Given the description of an element on the screen output the (x, y) to click on. 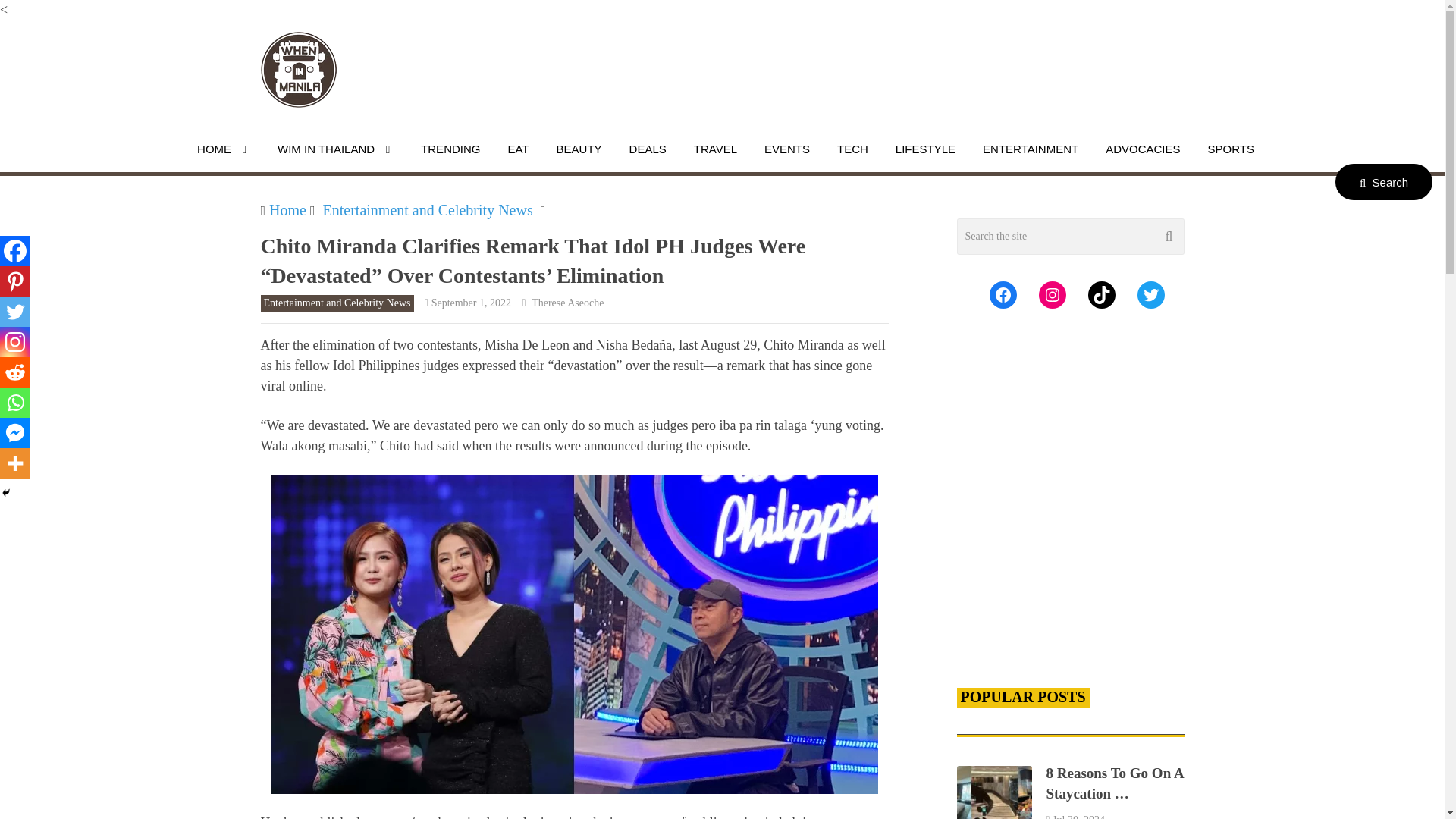
HOME (224, 148)
Twitter (15, 311)
Pinterest (15, 281)
EVENTS (786, 148)
TECH (852, 148)
EAT (518, 148)
Reddit (15, 372)
Whatsapp (15, 402)
DEALS (647, 148)
Posts by Therese Aseoche (567, 302)
LIFESTYLE (924, 148)
ENTERTAINMENT (1030, 148)
Instagram (15, 341)
Facebook (15, 250)
SPORTS (1230, 148)
